Given the description of an element on the screen output the (x, y) to click on. 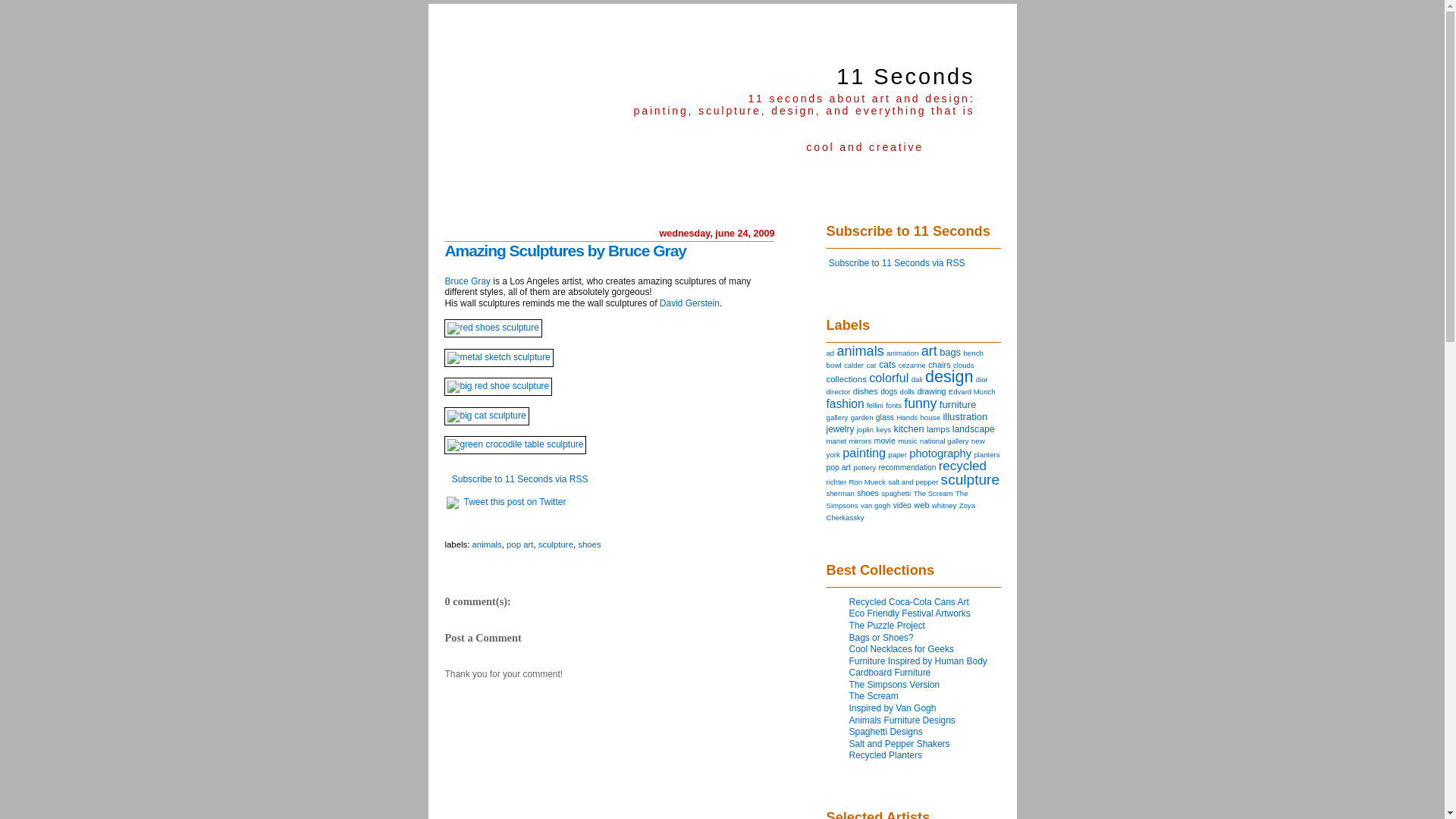
illustration Element type: text (964, 416)
art Element type: text (929, 350)
Cool Necklaces for Geeks Element type: text (901, 648)
fellini Element type: text (874, 405)
cezanne Element type: text (911, 364)
funny Element type: text (919, 403)
planters Element type: text (986, 454)
web Element type: text (920, 504)
animation Element type: text (902, 352)
van gogh Element type: text (875, 505)
Hands Element type: text (906, 417)
The Scream Element type: text (873, 695)
Inspired by Van Gogh Element type: text (892, 707)
shoes Element type: text (588, 544)
bags Element type: text (949, 351)
Edvard Munch Element type: text (971, 391)
colorful Element type: text (888, 377)
spaghetti Element type: text (895, 493)
11 Seconds Element type: text (905, 76)
Bags or Shoes? Element type: text (881, 637)
Spaghetti Designs Element type: text (885, 731)
The Scream Element type: text (932, 493)
Eco Friendly Festival Artworks Element type: text (909, 613)
pop art Element type: text (519, 544)
dior Element type: text (981, 379)
gallery Element type: text (837, 417)
dolls Element type: text (907, 391)
painting Element type: text (863, 452)
photography Element type: text (940, 453)
cats Element type: text (886, 364)
Edit Post Element type: hover (445, 524)
Recycled Coca-Cola Cans Art Element type: text (909, 601)
pottery Element type: text (864, 467)
animals Element type: text (487, 544)
lamps Element type: text (938, 428)
Zoya Cherkassky Element type: text (900, 511)
furniture Element type: text (957, 404)
keys Element type: text (883, 429)
sculpture Element type: text (555, 544)
manet Element type: text (836, 440)
The Simpsons Version Element type: text (894, 684)
landscape Element type: text (973, 428)
calder Element type: text (853, 364)
movie Element type: text (884, 440)
bowl Element type: text (833, 364)
David Gerstein Element type: text (689, 303)
The Simpsons Element type: text (897, 499)
Ron Mueck Element type: text (866, 481)
jewelry Element type: text (840, 428)
The Puzzle Project Element type: text (887, 625)
new york Element type: text (905, 447)
Salt and Pepper Shakers Element type: text (899, 743)
dogs Element type: text (888, 391)
director Element type: text (838, 391)
dishes Element type: text (865, 390)
recycled Element type: text (962, 465)
richter Element type: text (836, 481)
pop art Element type: text (838, 467)
music Element type: text (907, 440)
Bruce Gray Element type: text (467, 281)
fonts Element type: text (893, 405)
recommendation Element type: text (906, 467)
kitchen Element type: text (908, 428)
ad Element type: text (830, 352)
fashion Element type: text (845, 403)
national gallery Element type: text (943, 440)
mirrors Element type: text (859, 440)
Animals Furniture Designs Element type: text (902, 719)
garden Element type: text (861, 417)
  Element type: text (445, 524)
video Element type: text (902, 505)
joplin Element type: text (864, 429)
Amazing Sculptures by Bruce Gray Element type: text (564, 250)
Furniture Inspired by Human Body Element type: text (918, 660)
salt and pepper Element type: text (913, 481)
design Element type: text (949, 376)
Subscribe to 11 Seconds via RSS Element type: text (896, 262)
shoes Element type: text (867, 492)
Subscribe to 11 Seconds via RSS Element type: text (519, 478)
clouds Element type: text (963, 364)
Recycled Planters Element type: text (885, 754)
collections Element type: text (846, 378)
animals Element type: text (859, 350)
Tweet this post on Twitter Element type: text (515, 501)
chairs Element type: text (939, 364)
house Element type: text (929, 417)
whitney Element type: text (943, 505)
paper Element type: text (897, 454)
Cardboard Furniture Element type: text (890, 672)
sherman Element type: text (840, 493)
dali Element type: text (916, 379)
sculpture Element type: text (970, 479)
glass Element type: text (884, 417)
car Element type: text (871, 364)
drawing Element type: text (931, 390)
bench Element type: text (973, 352)
